Given the description of an element on the screen output the (x, y) to click on. 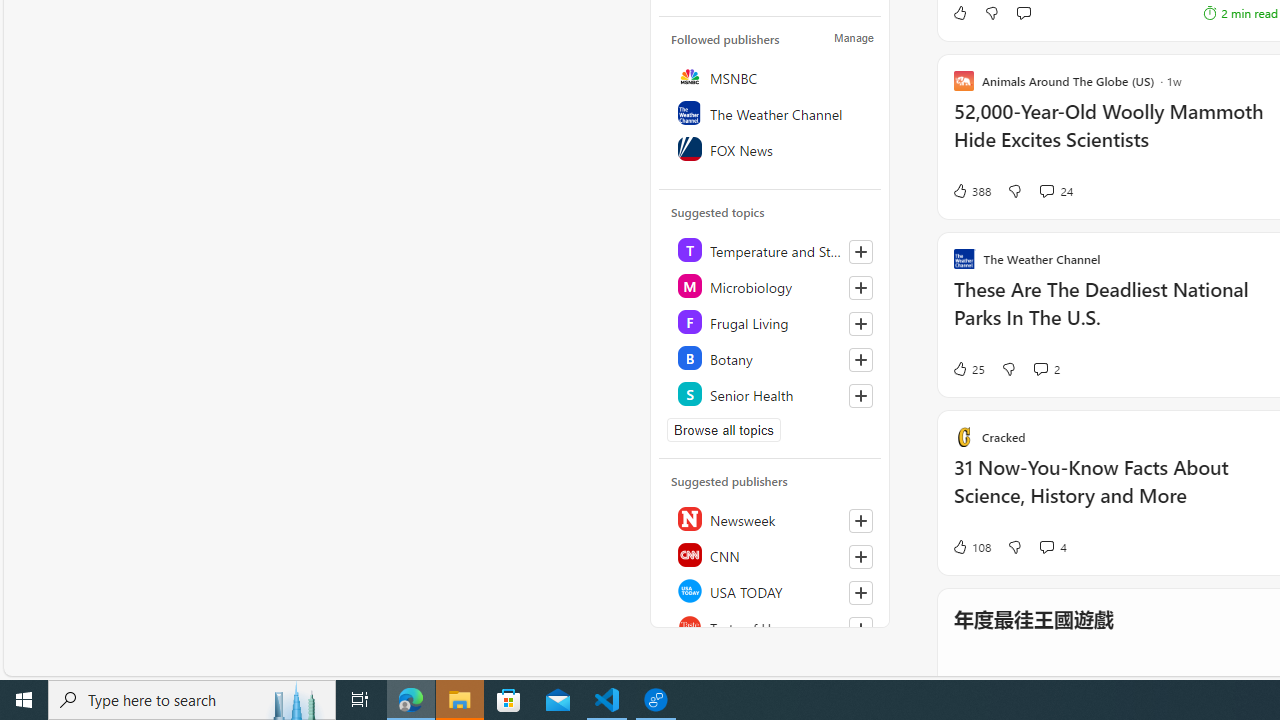
Newsweek (771, 518)
CNN (771, 554)
Follow this source (860, 628)
